Given the description of an element on the screen output the (x, y) to click on. 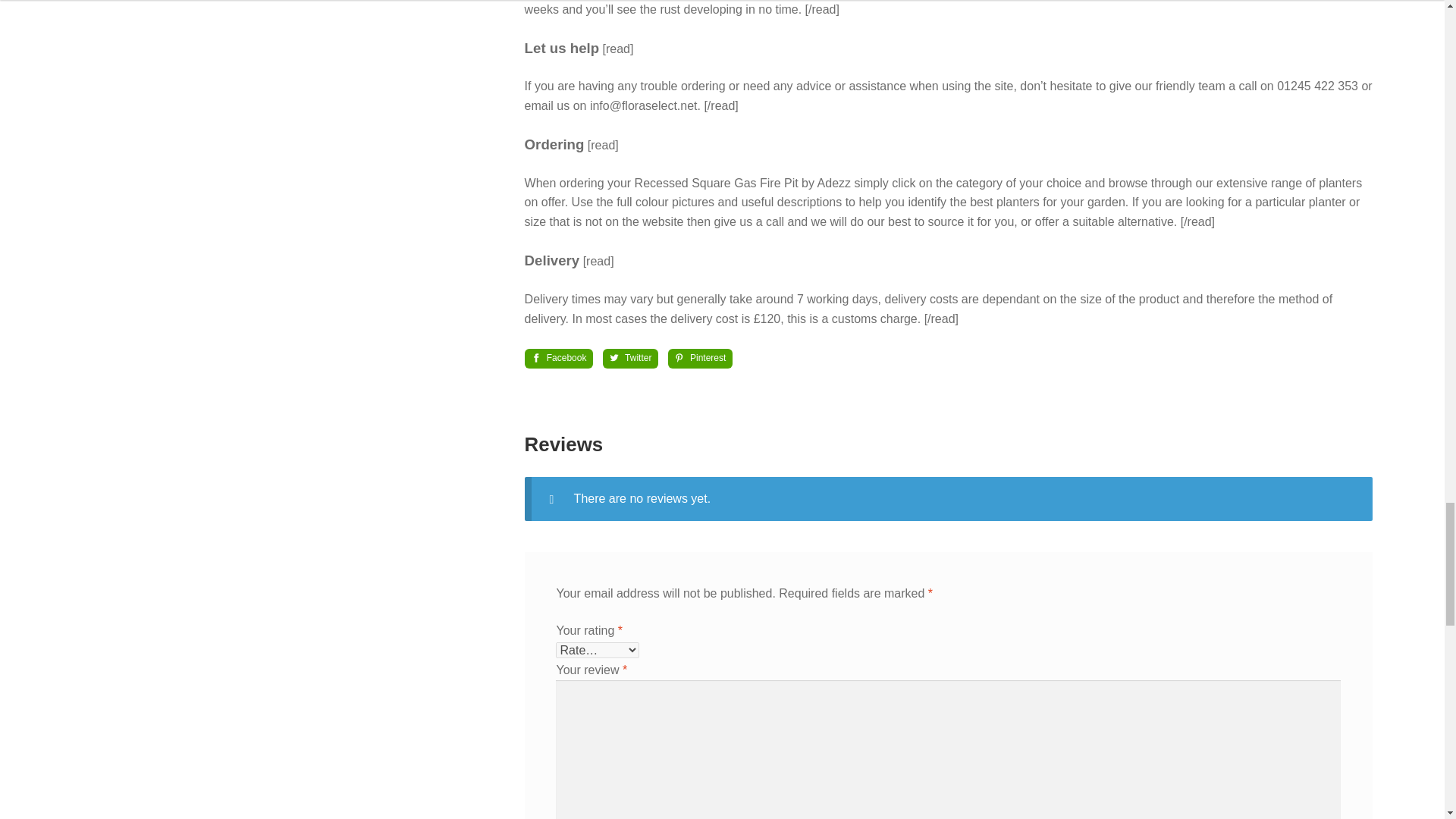
Share on Twitter (630, 357)
Share on Pinterest (700, 357)
Share on Facebook (559, 357)
